Given the description of an element on the screen output the (x, y) to click on. 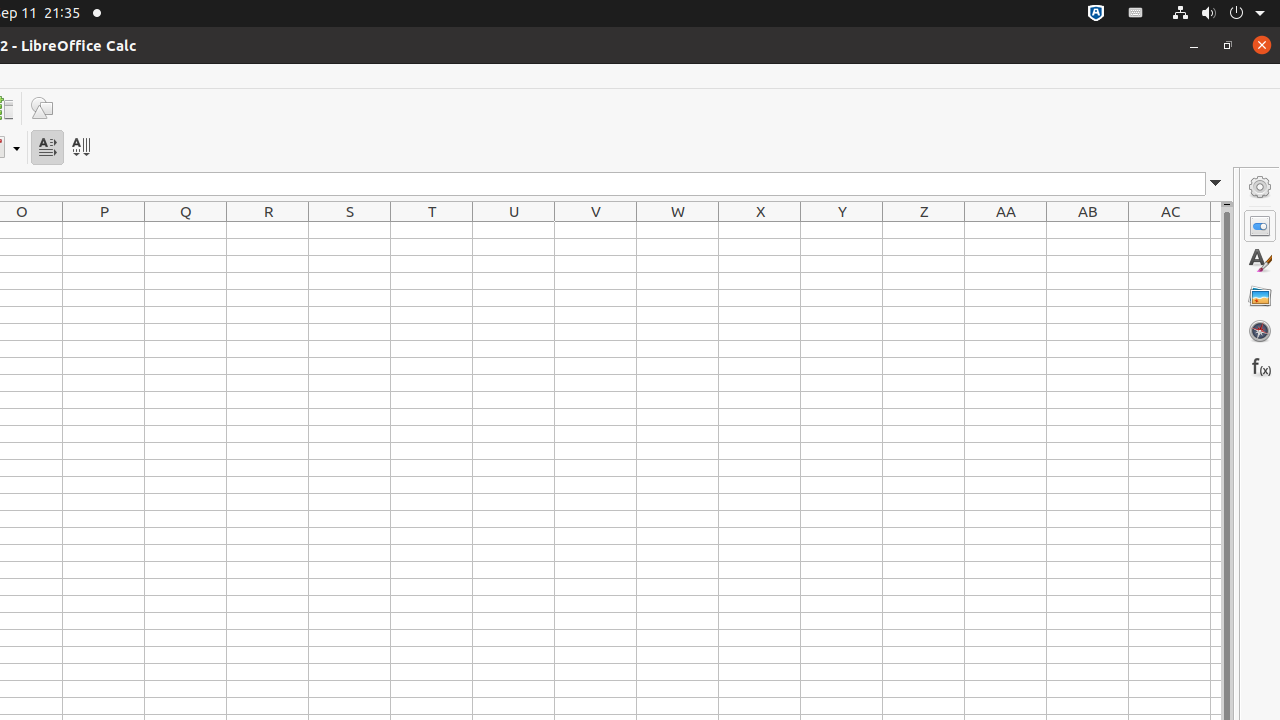
S1 Element type: table-cell (350, 230)
AB1 Element type: table-cell (1088, 230)
AD1 Element type: table-cell (1216, 230)
X1 Element type: table-cell (760, 230)
